Given the description of an element on the screen output the (x, y) to click on. 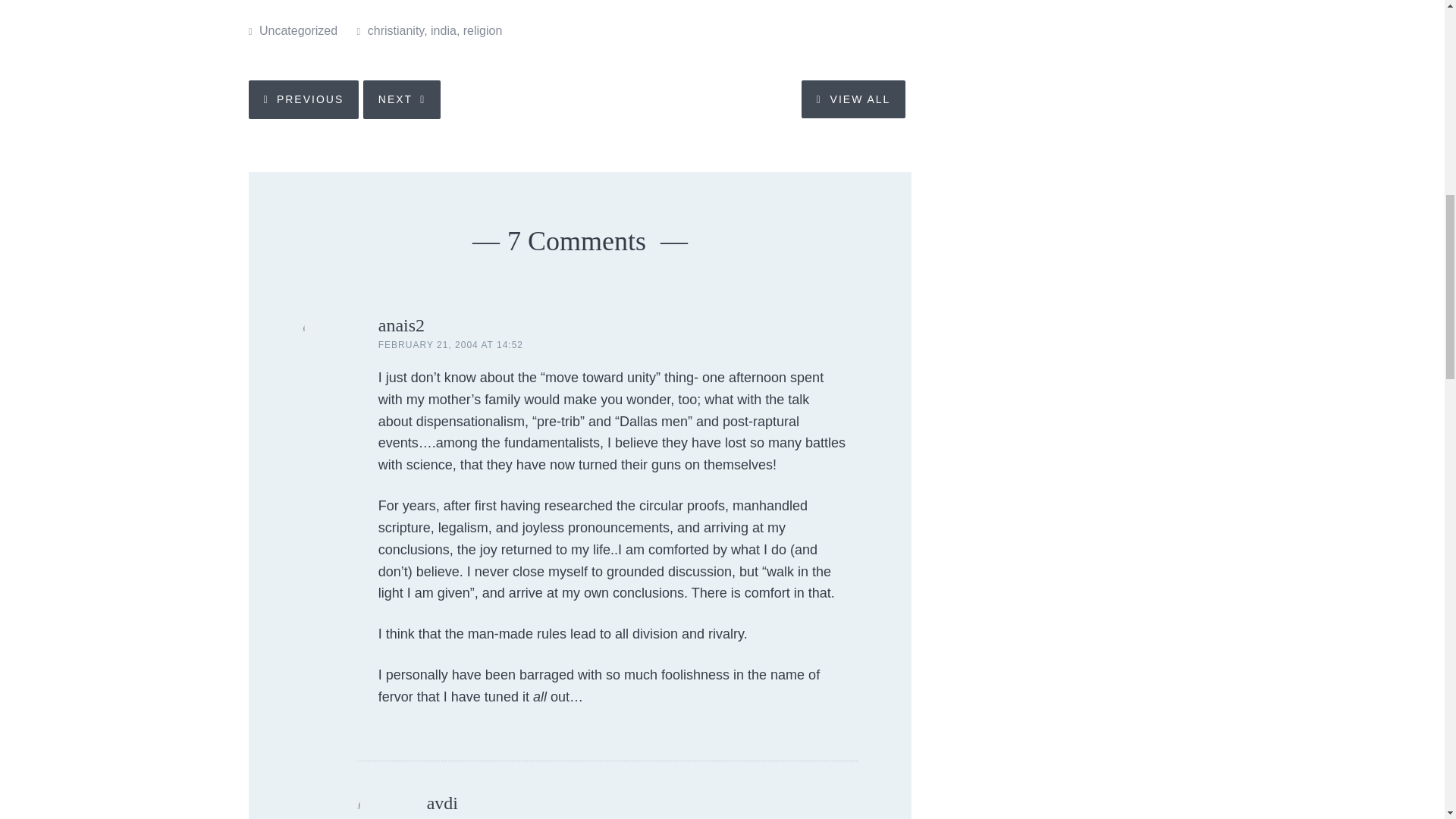
PREVIOUS (303, 99)
VIEW ALL (853, 98)
religion (482, 30)
FEBRUARY 21, 2004 AT 17:09 (499, 818)
anais2 (401, 324)
christianity (395, 30)
india (443, 30)
Uncategorized (298, 30)
FEBRUARY 21, 2004 AT 14:52 (450, 344)
NEXT (401, 99)
avdi (442, 803)
